Given the description of an element on the screen output the (x, y) to click on. 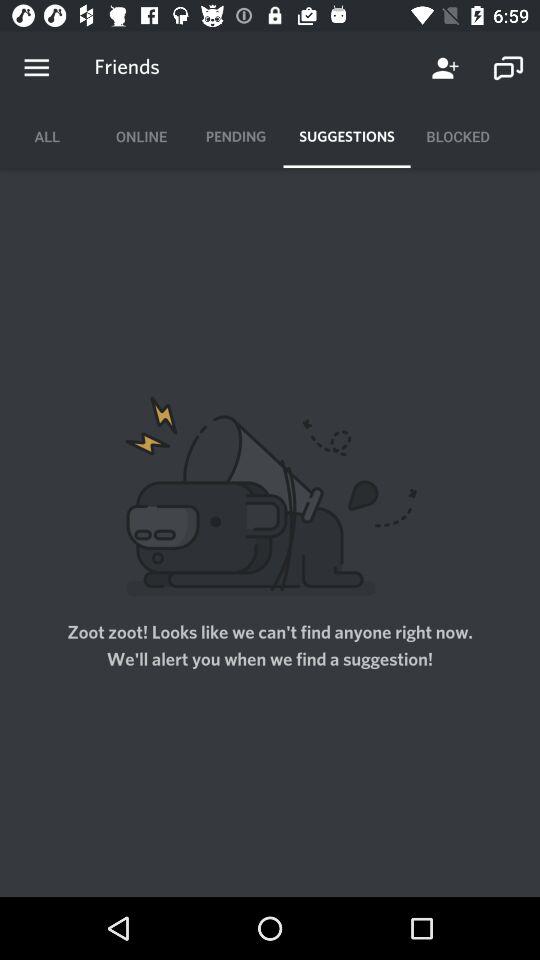
press the item to the left of friends (36, 68)
